Given the description of an element on the screen output the (x, y) to click on. 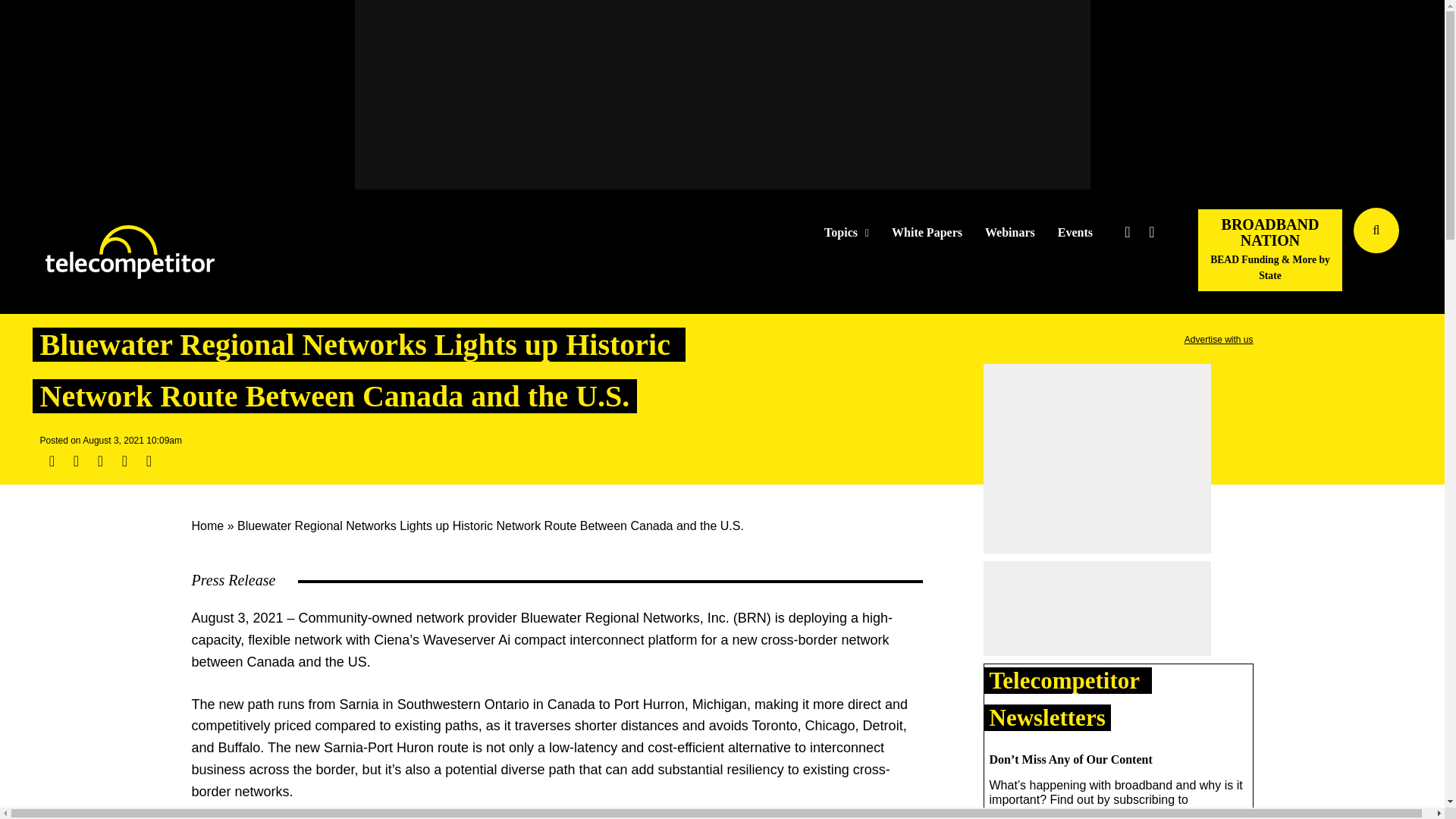
Follow Us on Twitter (1127, 232)
Search (1430, 253)
Spread the word on Twitter (75, 460)
Pinterest (124, 460)
Follow Us on LinkedIN (1151, 232)
Share on Facebook (51, 460)
Search telecompetitor.com (1376, 230)
White Papers (927, 232)
Webinars (1010, 232)
Share on Linked In (99, 460)
Topics (846, 232)
Events (1074, 232)
